Given the description of an element on the screen output the (x, y) to click on. 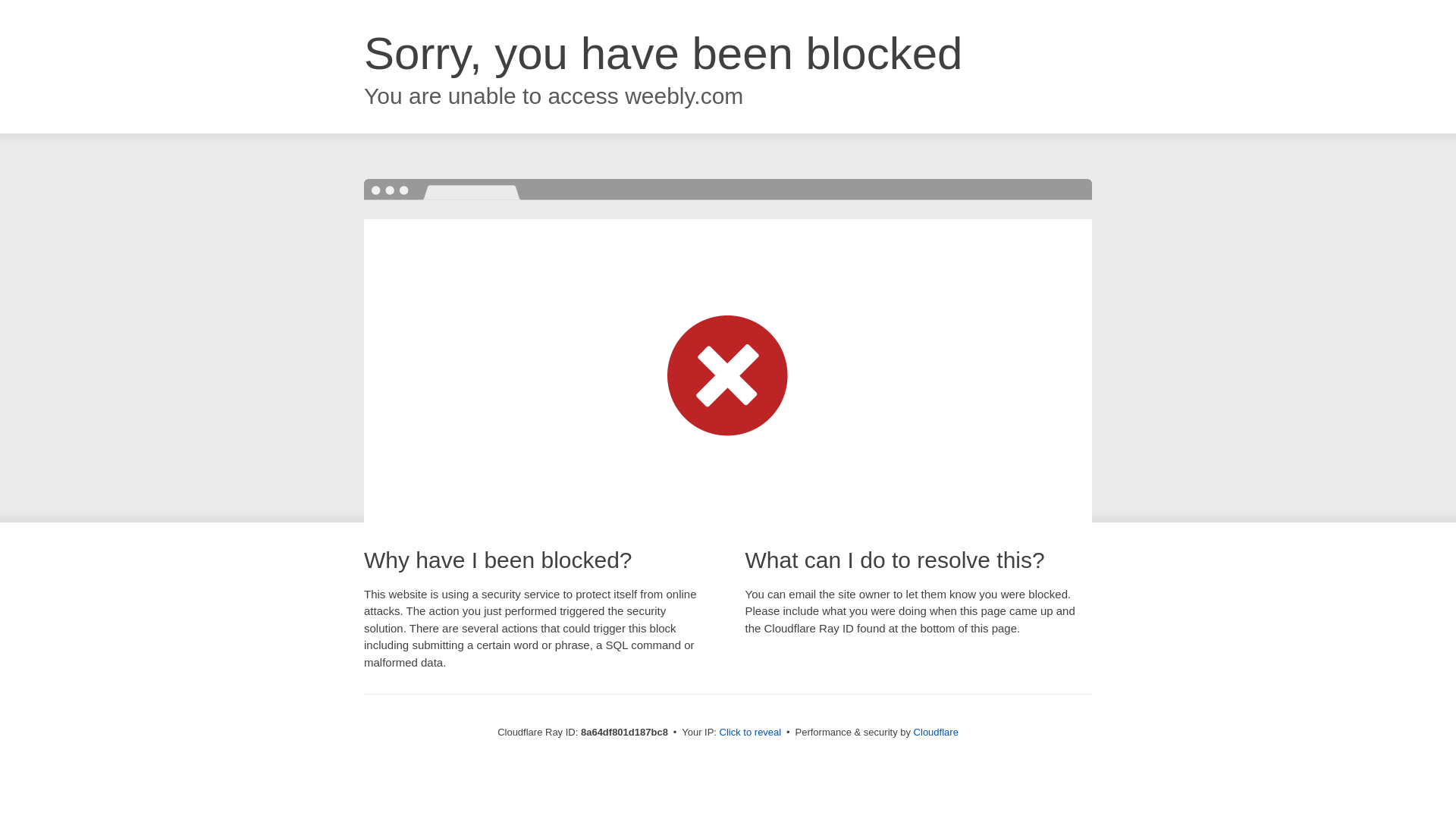
Cloudflare (936, 731)
Click to reveal (750, 732)
